Given the description of an element on the screen output the (x, y) to click on. 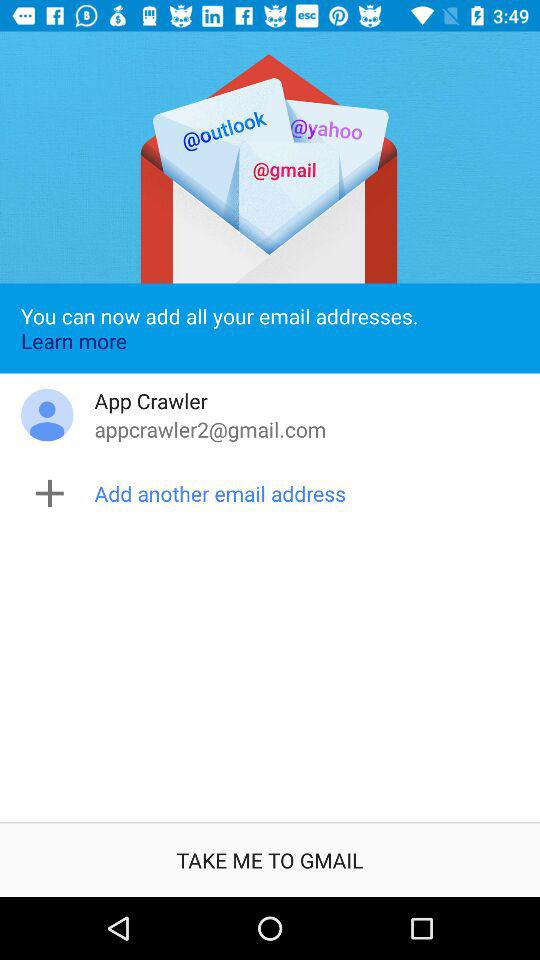
jump until you can now (269, 328)
